Given the description of an element on the screen output the (x, y) to click on. 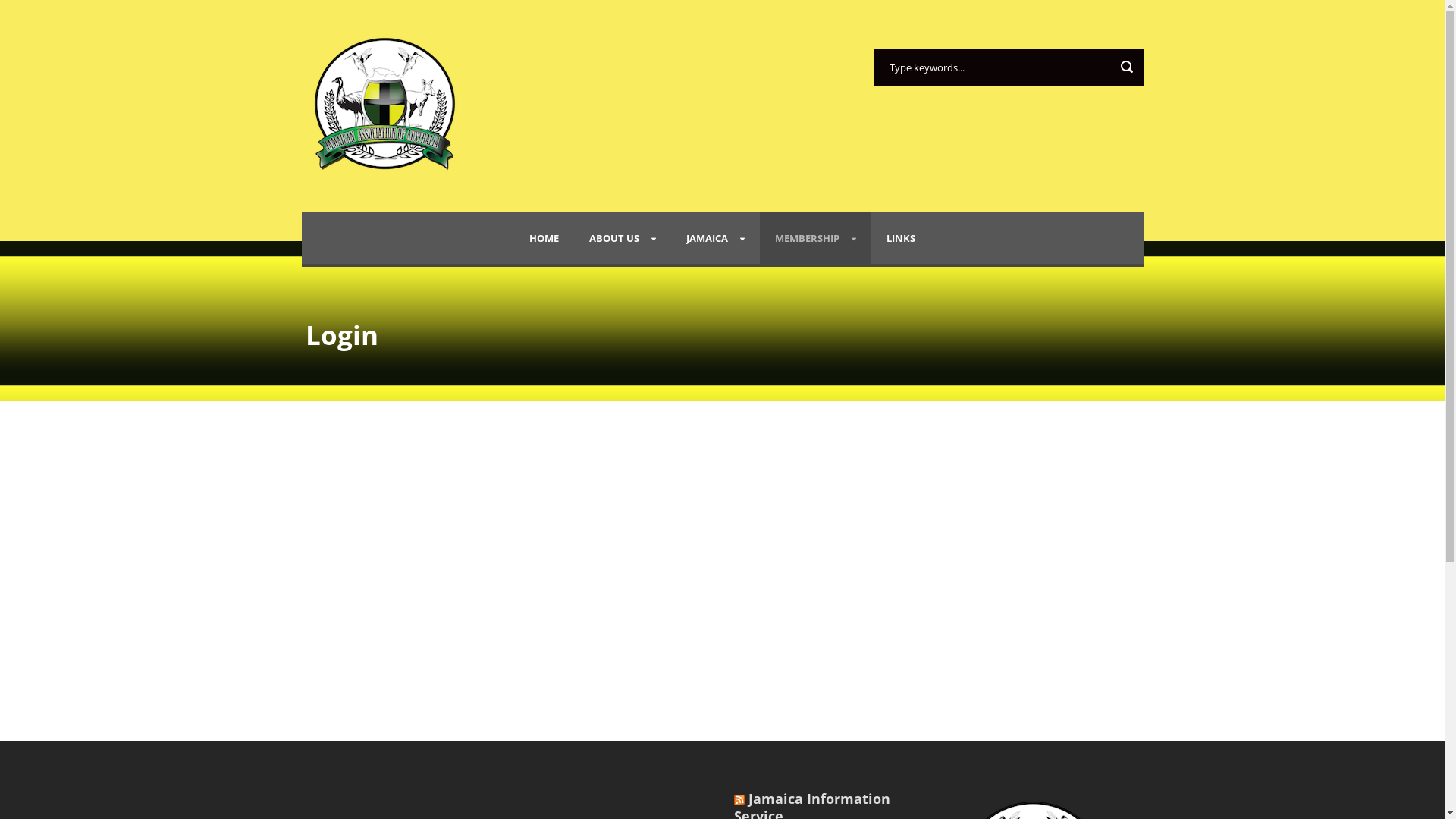
LINKS Element type: text (900, 237)
HOME Element type: text (544, 237)
Login Element type: text (633, 645)
JAMAICA Element type: text (715, 237)
ABOUT US Element type: text (622, 237)
MEMBERSHIP Element type: text (815, 237)
